Given the description of an element on the screen output the (x, y) to click on. 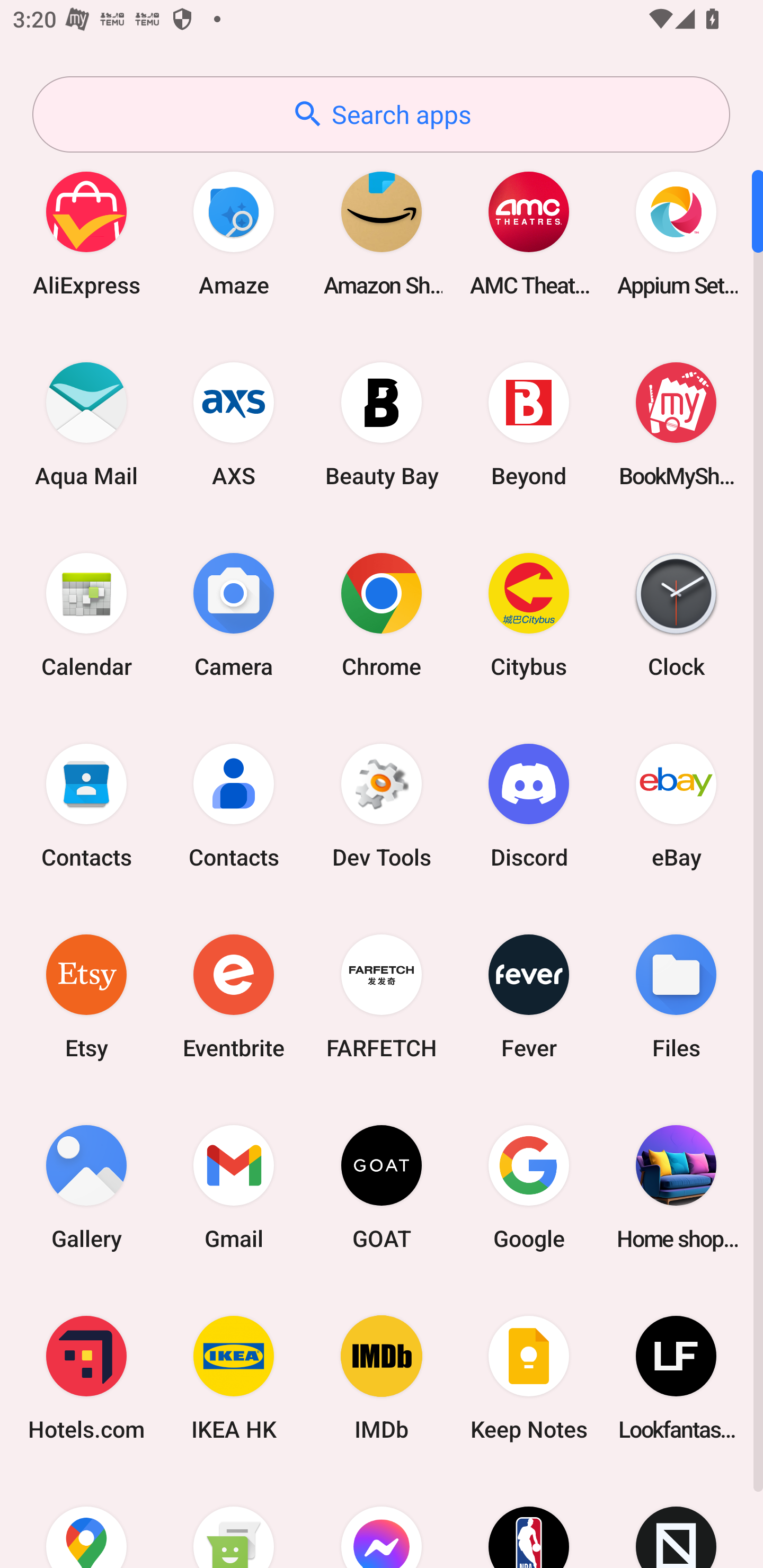
  Search apps (381, 114)
AliExpress (86, 233)
Amaze (233, 233)
Amazon Shopping (381, 233)
AMC Theatres (528, 233)
Appium Settings (676, 233)
Aqua Mail (86, 424)
AXS (233, 424)
Beauty Bay (381, 424)
Beyond (528, 424)
BookMyShow (676, 424)
Calendar (86, 614)
Camera (233, 614)
Chrome (381, 614)
Citybus (528, 614)
Clock (676, 614)
Contacts (86, 805)
Contacts (233, 805)
Dev Tools (381, 805)
Discord (528, 805)
eBay (676, 805)
Etsy (86, 996)
Eventbrite (233, 996)
FARFETCH (381, 996)
Fever (528, 996)
Files (676, 996)
Gallery (86, 1186)
Gmail (233, 1186)
GOAT (381, 1186)
Google (528, 1186)
Home shopping (676, 1186)
Hotels.com (86, 1377)
IKEA HK (233, 1377)
IMDb (381, 1377)
Keep Notes (528, 1377)
Lookfantastic (676, 1377)
